Given the description of an element on the screen output the (x, y) to click on. 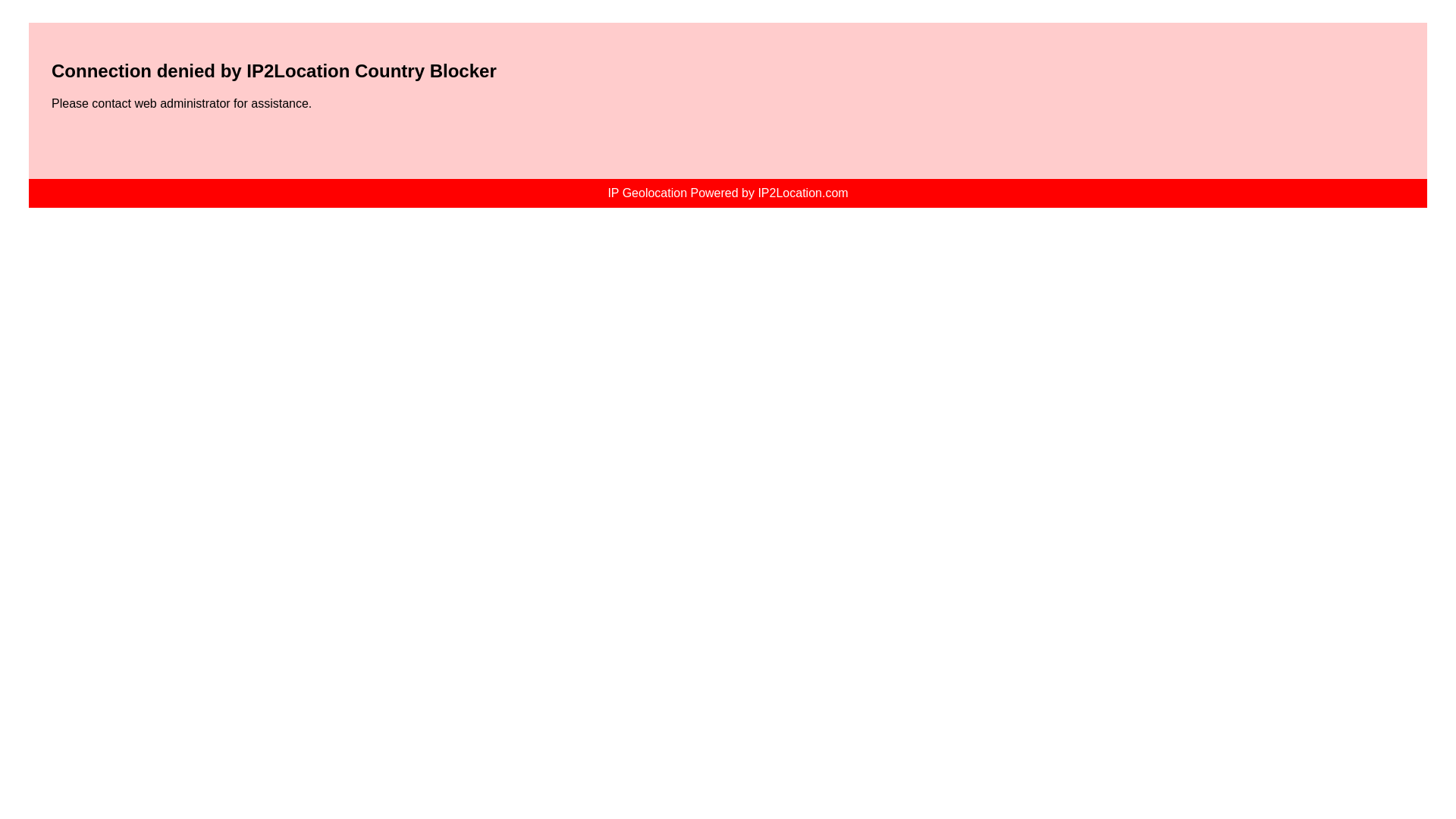
IP Geolocation Powered by IP2Location.com (727, 192)
